Given the description of an element on the screen output the (x, y) to click on. 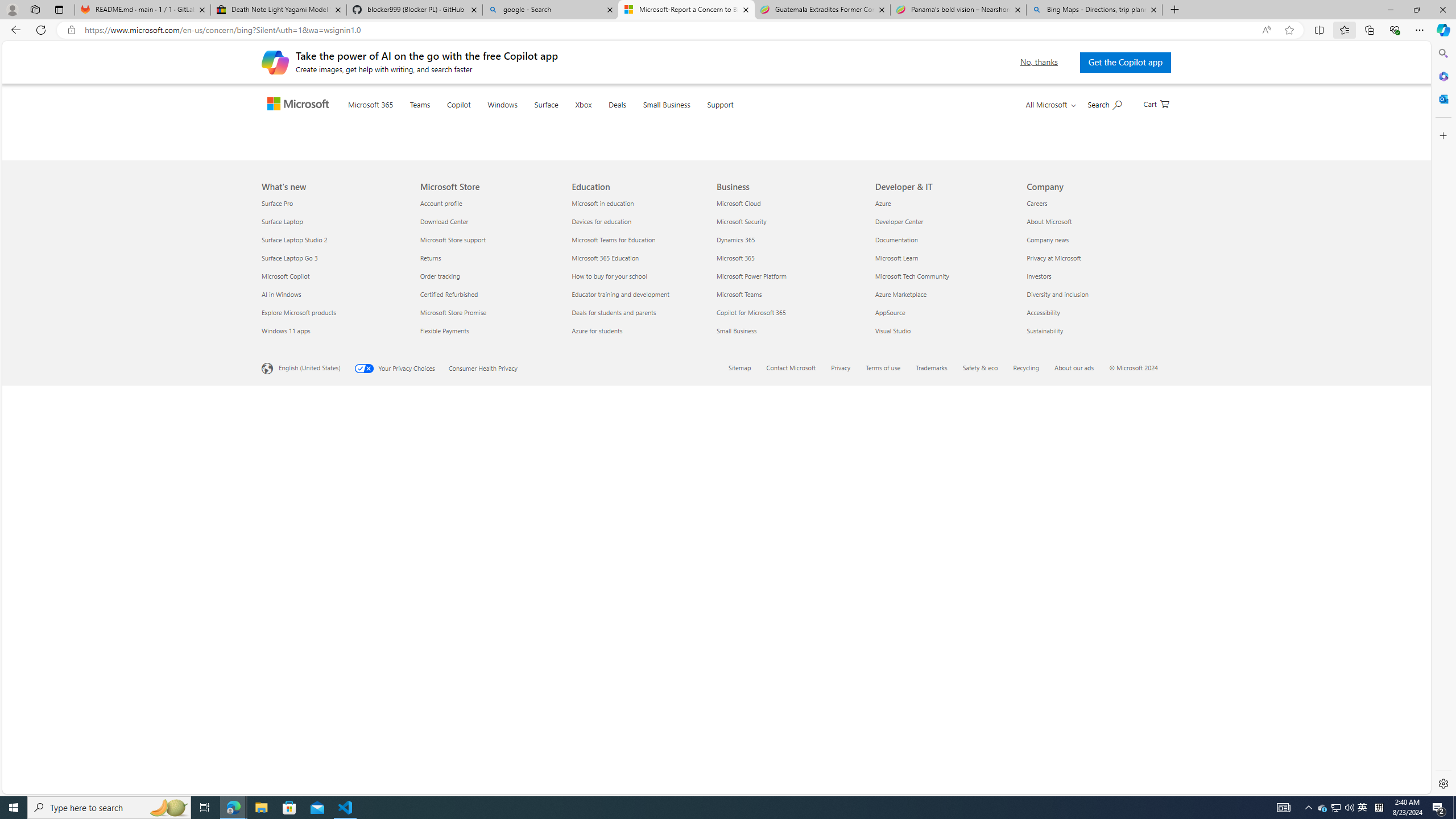
About Microsoft (1095, 621)
Copilot (480, 118)
AppSource (944, 712)
Microsoft Store support (489, 639)
About our ads (1074, 767)
Teams (442, 118)
Certified Refurbished (489, 694)
Microsoft Teams (788, 694)
Teams (442, 118)
